Given the description of an element on the screen output the (x, y) to click on. 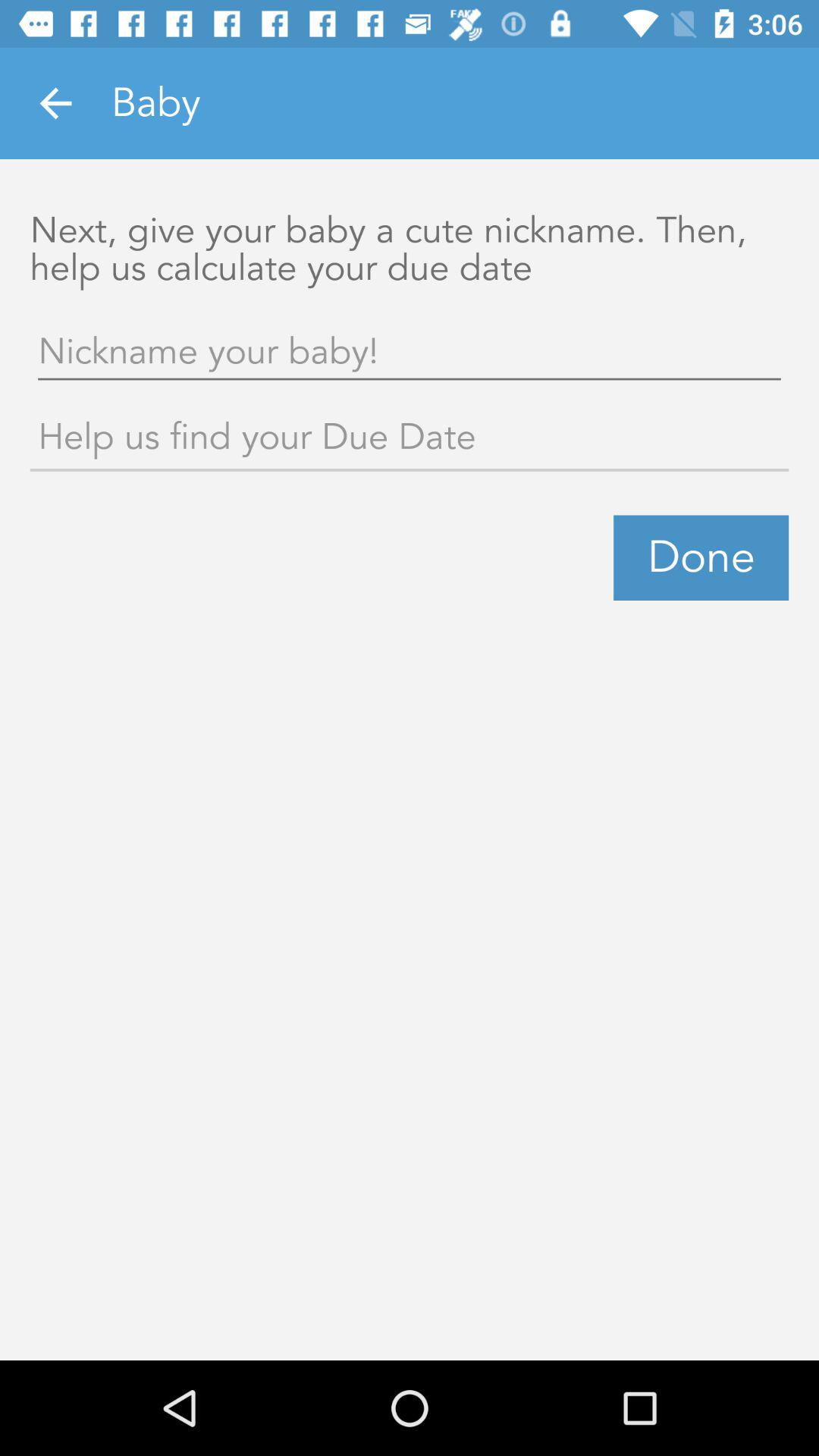
press the icon to the left of the baby (55, 103)
